Given the description of an element on the screen output the (x, y) to click on. 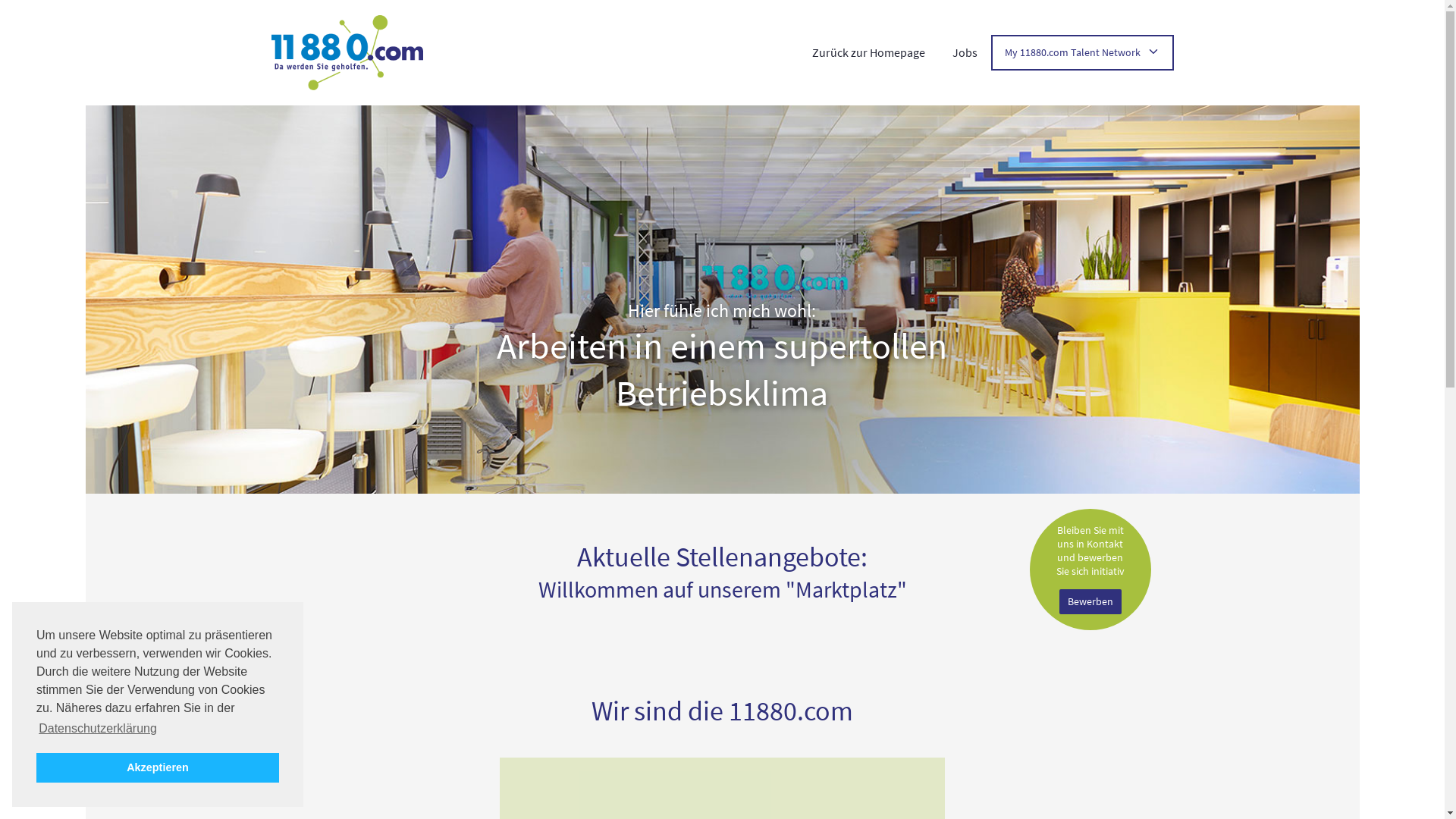
My 11880.com Talent Network Element type: text (1081, 51)
Akzeptieren Element type: text (157, 767)
Bewerben Element type: text (1089, 601)
Finden Element type: text (441, 16)
Jobs Element type: text (964, 52)
